Given the description of an element on the screen output the (x, y) to click on. 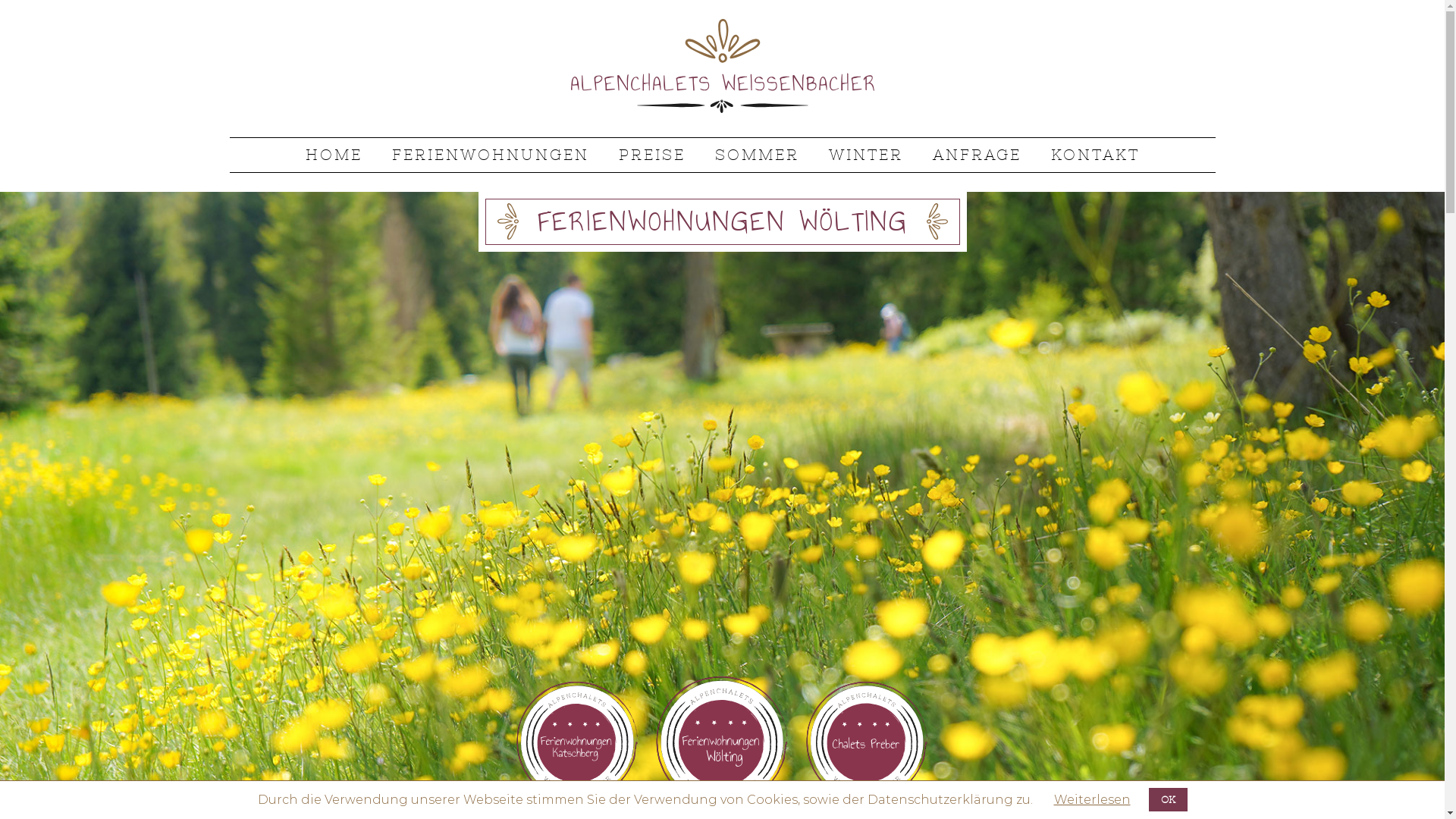
ANFRAGE Element type: text (976, 155)
  Element type: text (240, 179)
SOMMER Element type: text (756, 155)
PREISE Element type: text (651, 155)
Weiterlesen Element type: text (1092, 799)
WINTER Element type: text (865, 155)
Alpenchalets Preber Element type: hover (867, 741)
Alpenchalets Weissenbacher Element type: hover (721, 108)
Alpenchalets Katschberg Element type: hover (577, 741)
FERIENWOHNUNGEN Element type: text (490, 155)
OK Element type: text (1167, 799)
KONTAKT Element type: text (1094, 155)
HOME Element type: text (333, 155)
